Given the description of an element on the screen output the (x, y) to click on. 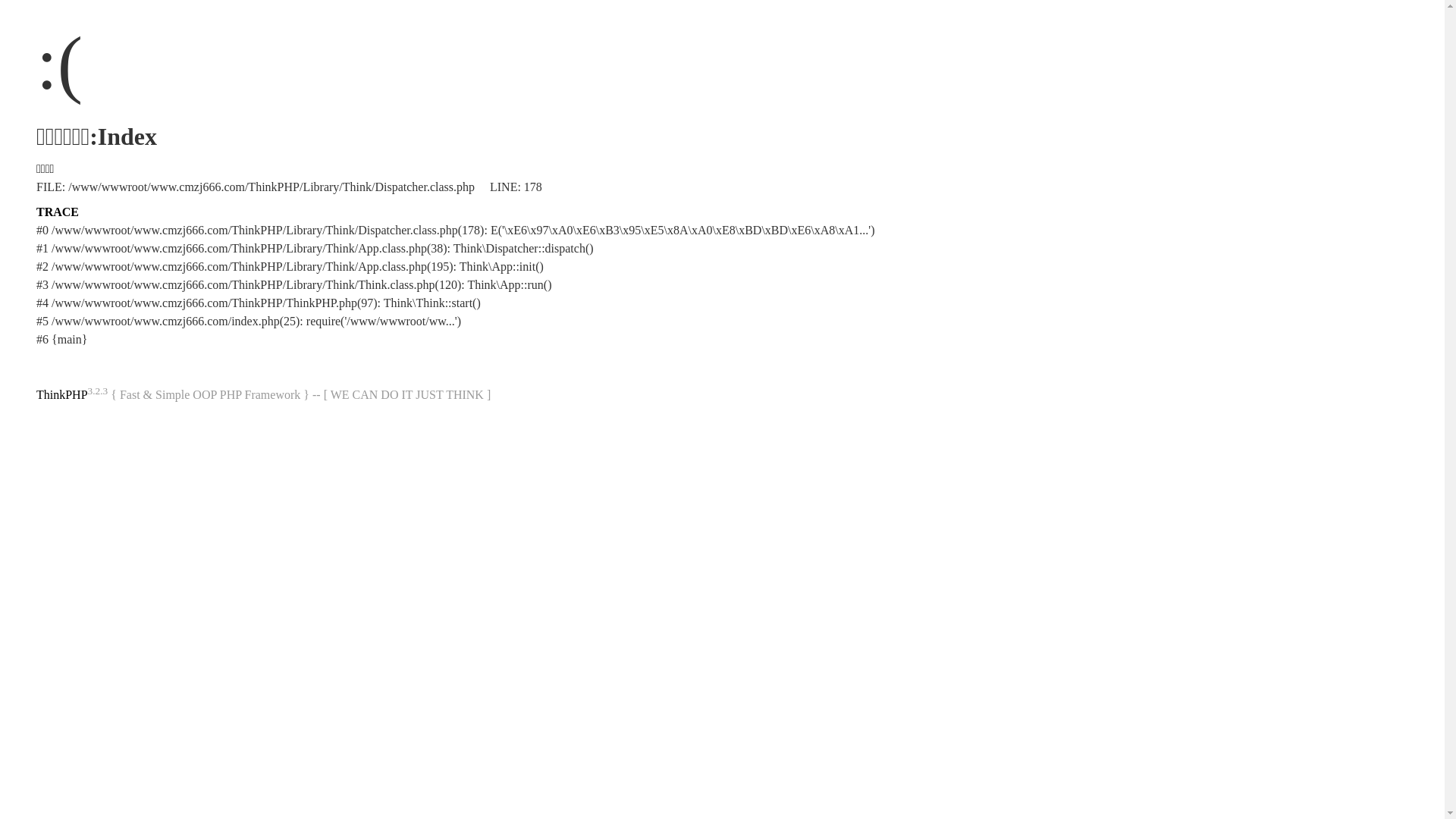
ThinkPHP Element type: text (61, 394)
